Given the description of an element on the screen output the (x, y) to click on. 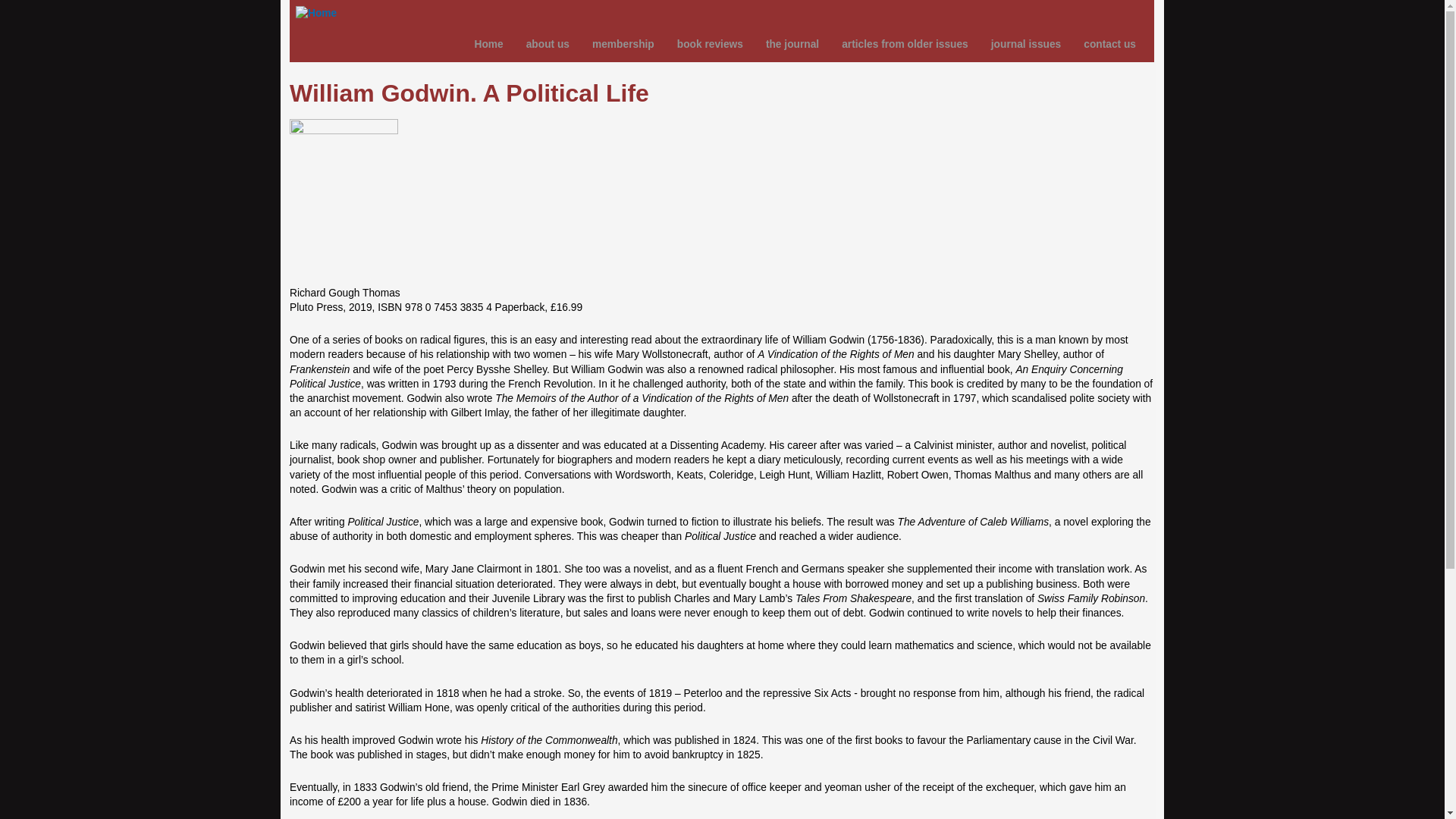
membership (614, 43)
articles from older issues (897, 43)
Home (480, 43)
the journal (784, 43)
journal issues (1018, 43)
Home (315, 12)
contact us (1101, 43)
book reviews (702, 43)
about us (540, 43)
